Given the description of an element on the screen output the (x, y) to click on. 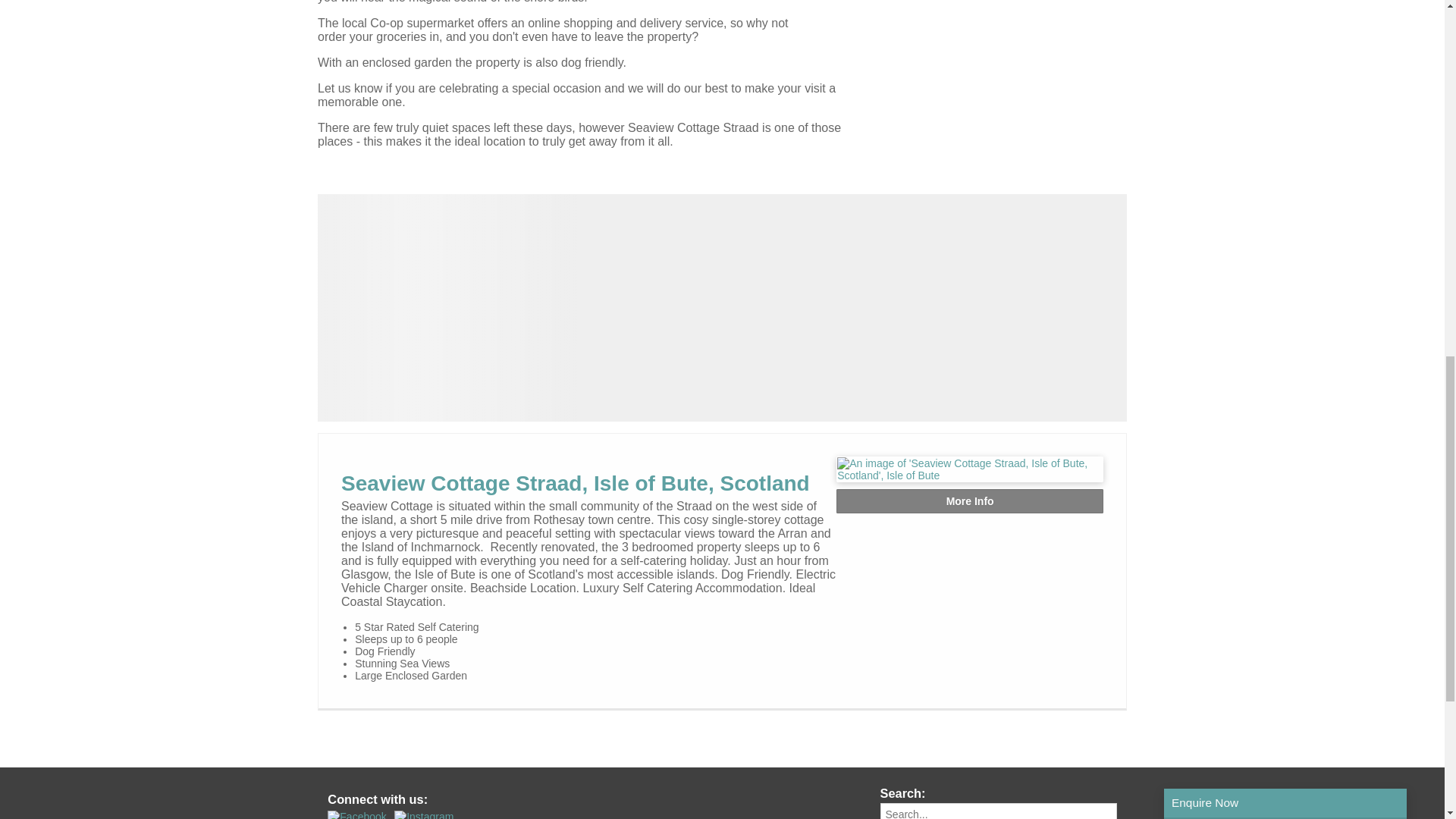
Seaview Cottage Straad, Isle of Bute, Scotland (574, 483)
More Info (969, 500)
